Given the description of an element on the screen output the (x, y) to click on. 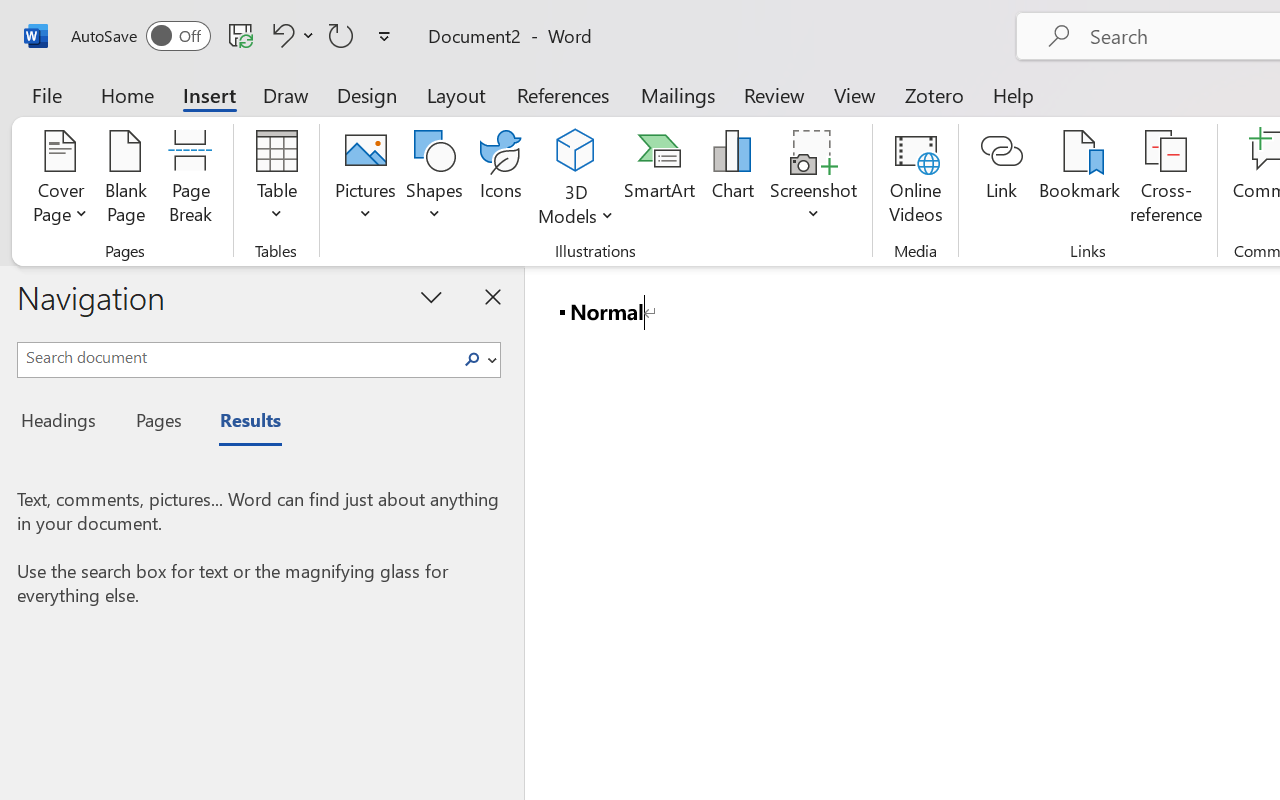
Layout (456, 94)
Quick Access Toolbar (233, 36)
